Given the description of an element on the screen output the (x, y) to click on. 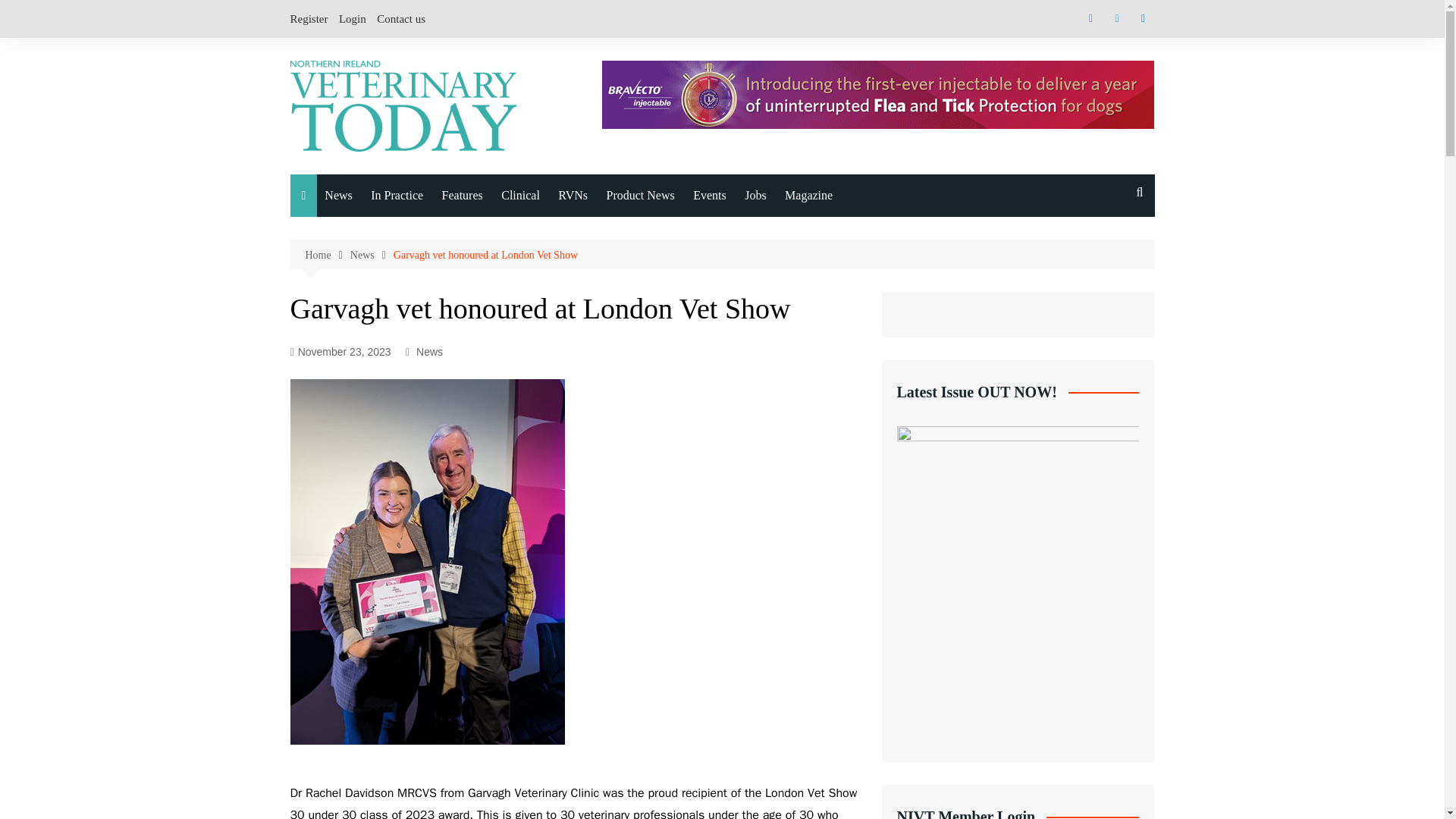
RVNs (572, 195)
Login (352, 18)
Twitter (1116, 18)
Garvagh vet honoured at London Vet Show (485, 255)
Clinical (520, 195)
News (371, 255)
General (400, 358)
Features (461, 195)
Home (326, 255)
Register for the print edition (860, 397)
